Given the description of an element on the screen output the (x, y) to click on. 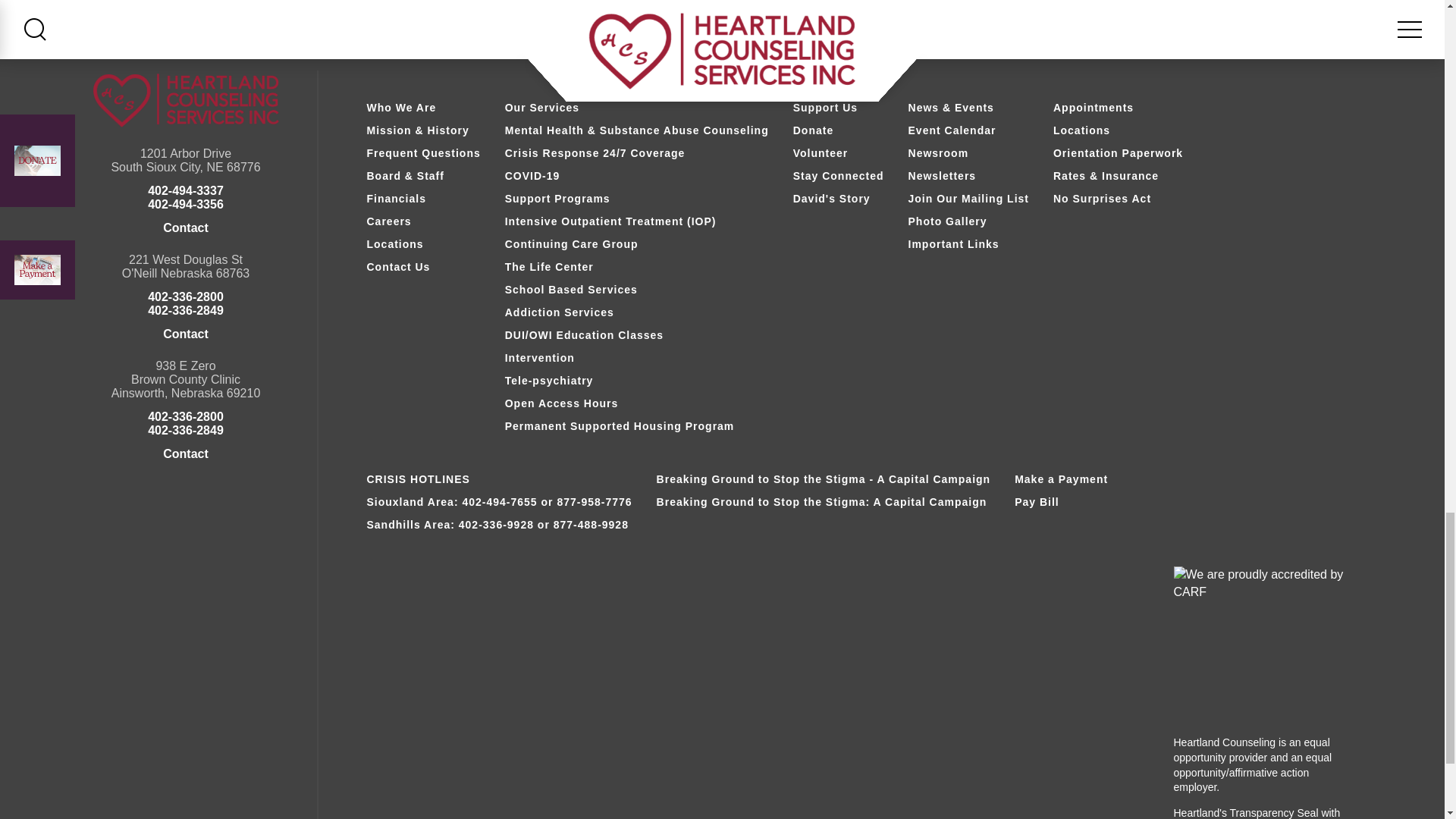
logo (185, 99)
